Given the description of an element on the screen output the (x, y) to click on. 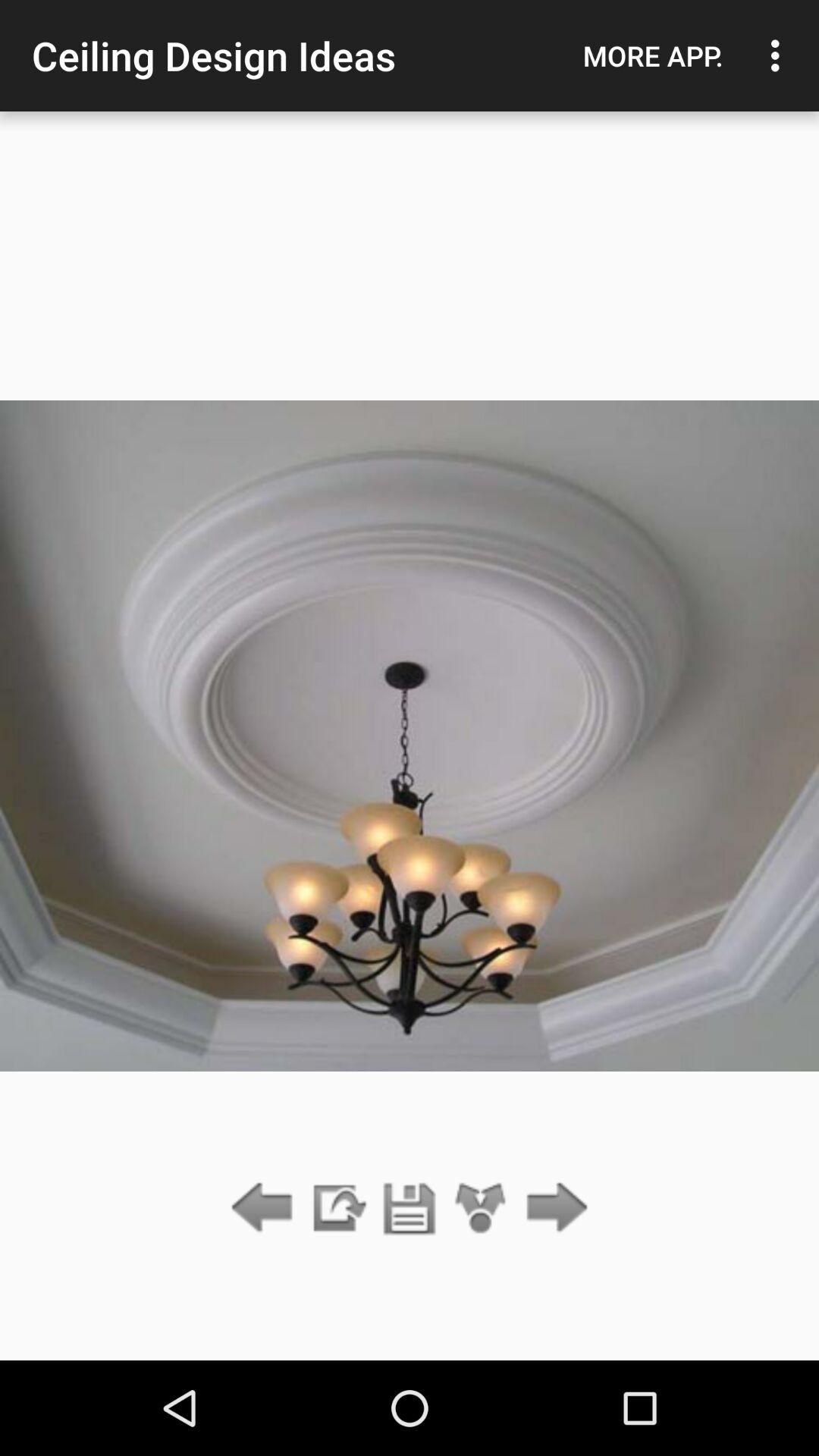
scroll to the more app. item (653, 55)
